Given the description of an element on the screen output the (x, y) to click on. 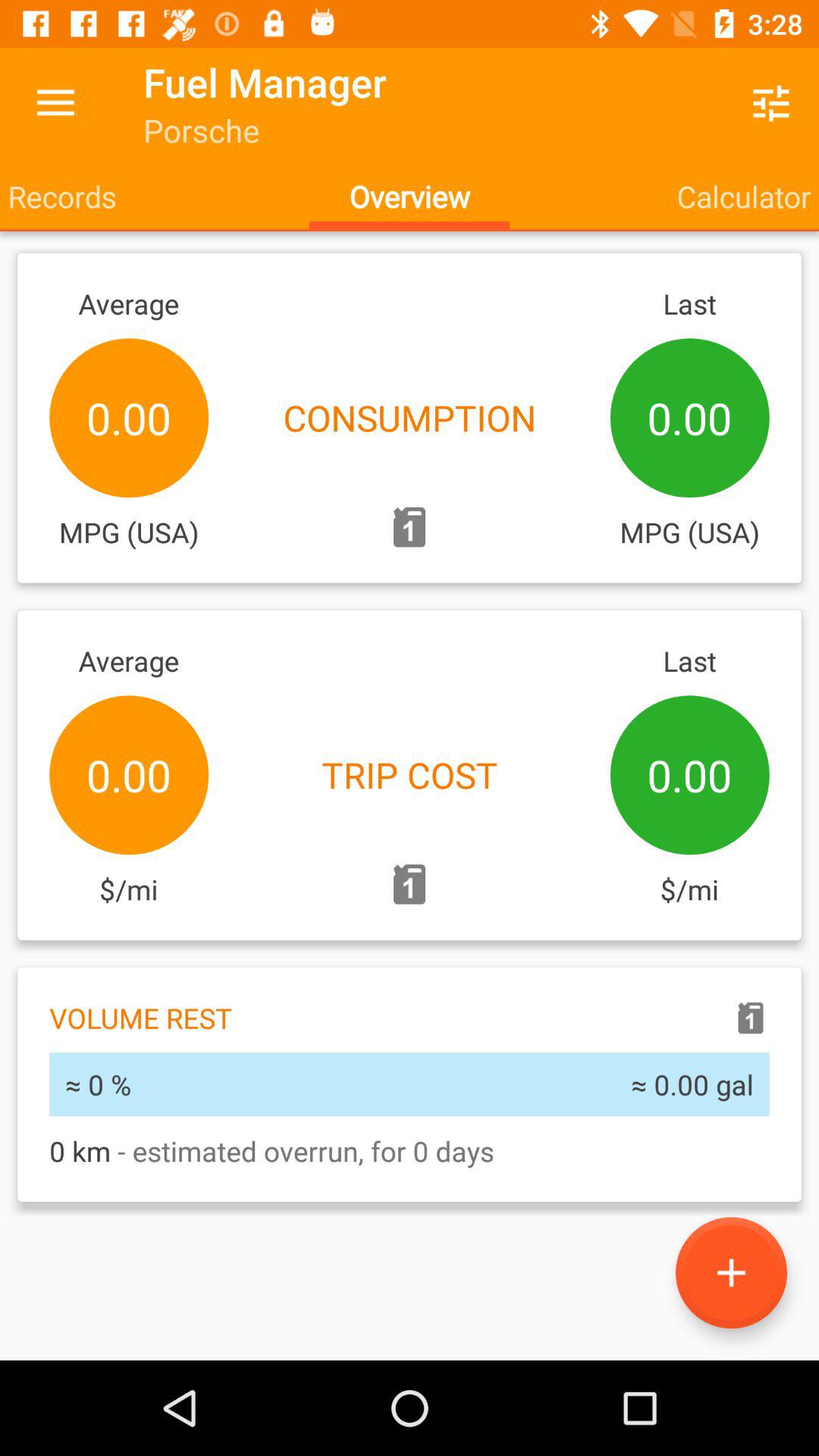
click icon next to the fuel manager (55, 103)
